Given the description of an element on the screen output the (x, y) to click on. 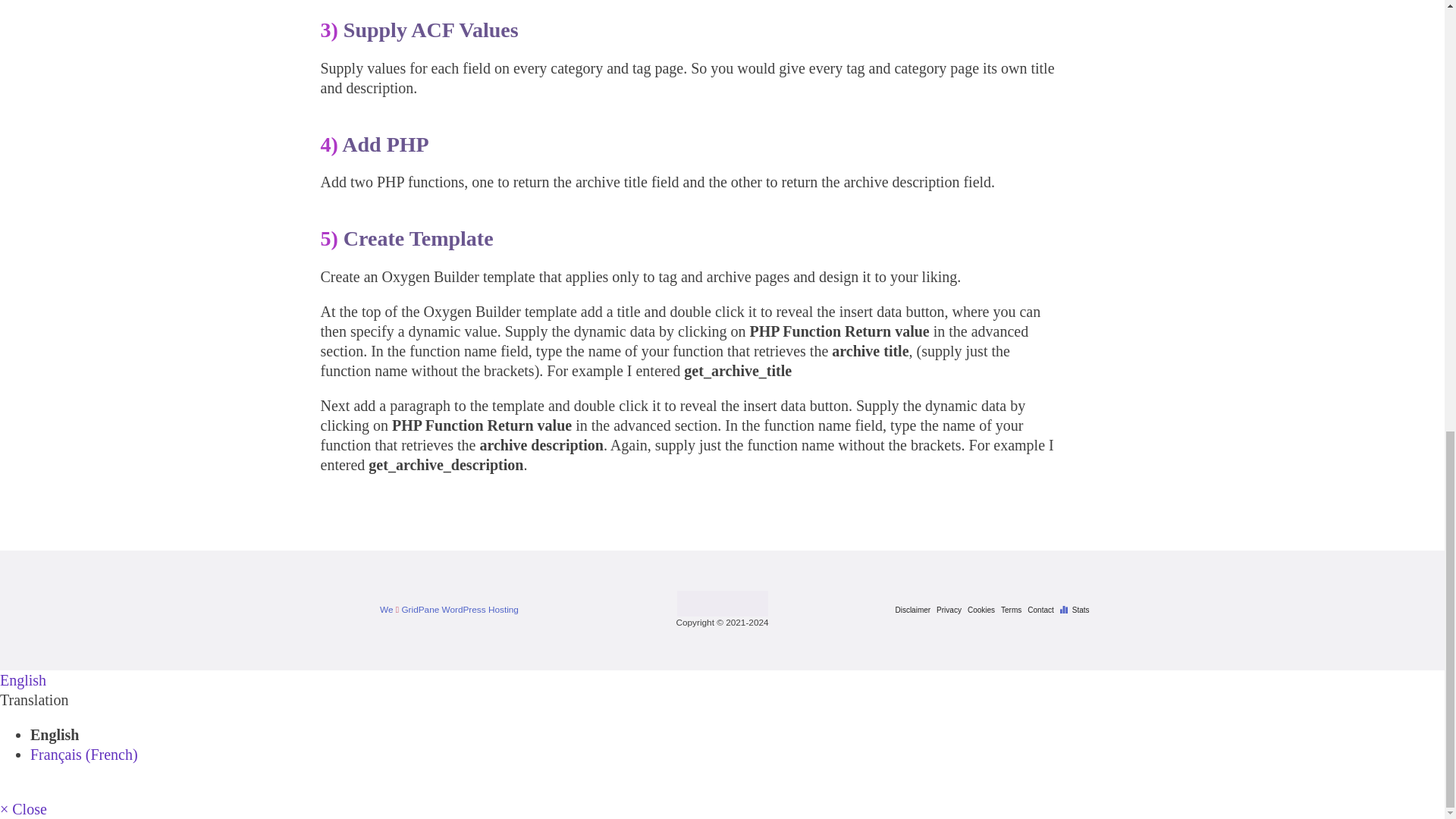
Cookies (984, 610)
Disclaimer (915, 610)
English (23, 679)
Terms (1014, 610)
Contact (1043, 610)
Privacy (952, 610)
We GridPane WordPress Hosting (449, 610)
Stats (1077, 610)
